Given the description of an element on the screen output the (x, y) to click on. 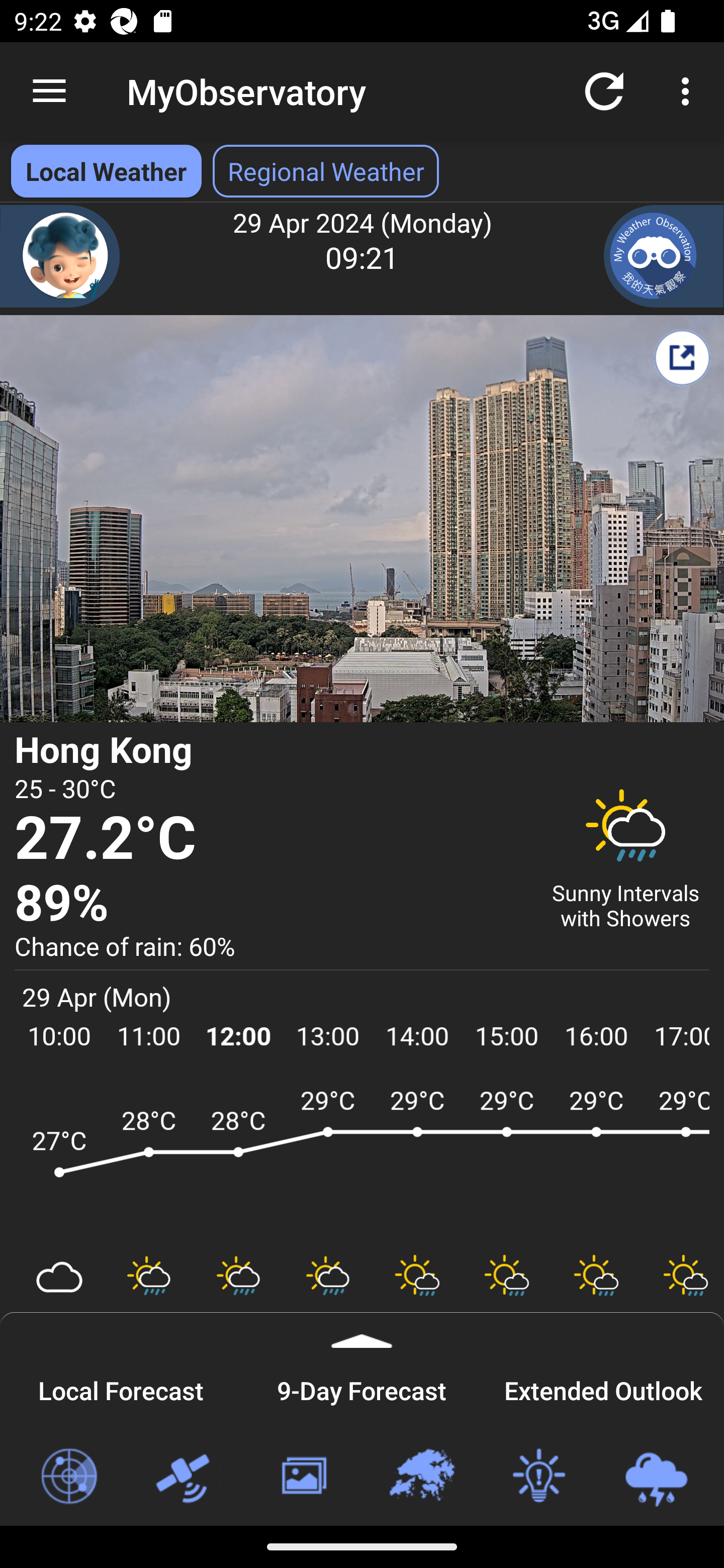
Navigate up (49, 91)
Refresh (604, 90)
More options (688, 90)
Local Weather Local Weather selected (105, 170)
Regional Weather Select Regional Weather (325, 170)
Chatbot (60, 256)
My Weather Observation (663, 256)
Share My Weather Report (681, 357)
27.2°C Temperature
27.2 degree Celsius (270, 839)
89% Relative Humidity
89 percent (270, 903)
ARWF (361, 1160)
Expand (362, 1330)
Local Forecast (120, 1387)
Extended Outlook (603, 1387)
Radar Images (68, 1476)
Satellite Images (185, 1476)
Weather Photos (302, 1476)
Regional Weather (420, 1476)
Weather Tips (537, 1476)
Loc-based Rain & Lightning Forecast (655, 1476)
